Given the description of an element on the screen output the (x, y) to click on. 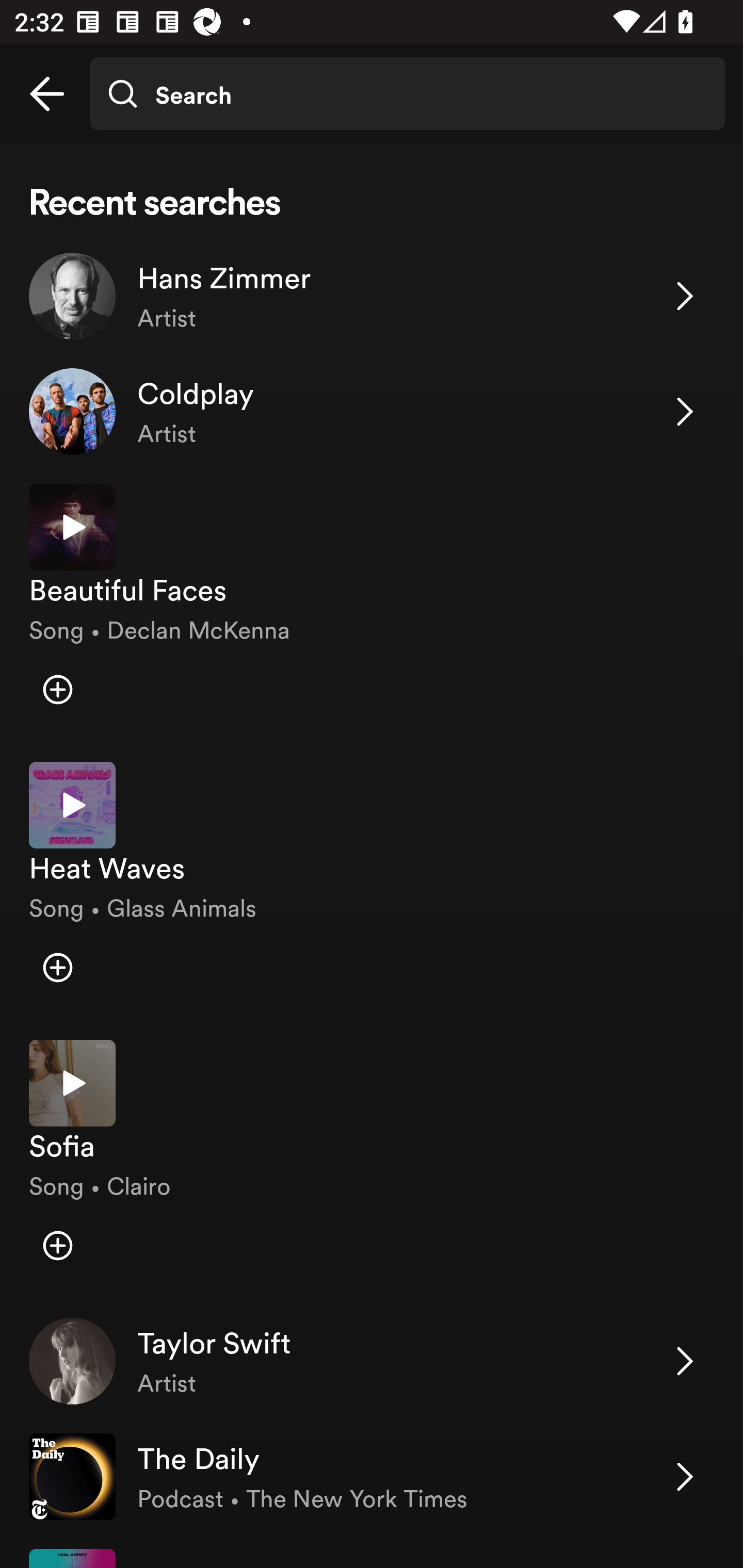
Back (46, 93)
Search (407, 94)
Hans Zimmer Artist (371, 296)
Coldplay Artist (371, 411)
Play preview (71, 527)
Add item (57, 689)
Play preview (71, 805)
Add item (57, 967)
Play preview Sofia Song • Clairo Add item (371, 1164)
Play preview (71, 1082)
Add item (57, 1245)
Taylor Swift Artist (371, 1361)
The Daily Podcast • The New York Times (371, 1477)
